Given the description of an element on the screen output the (x, y) to click on. 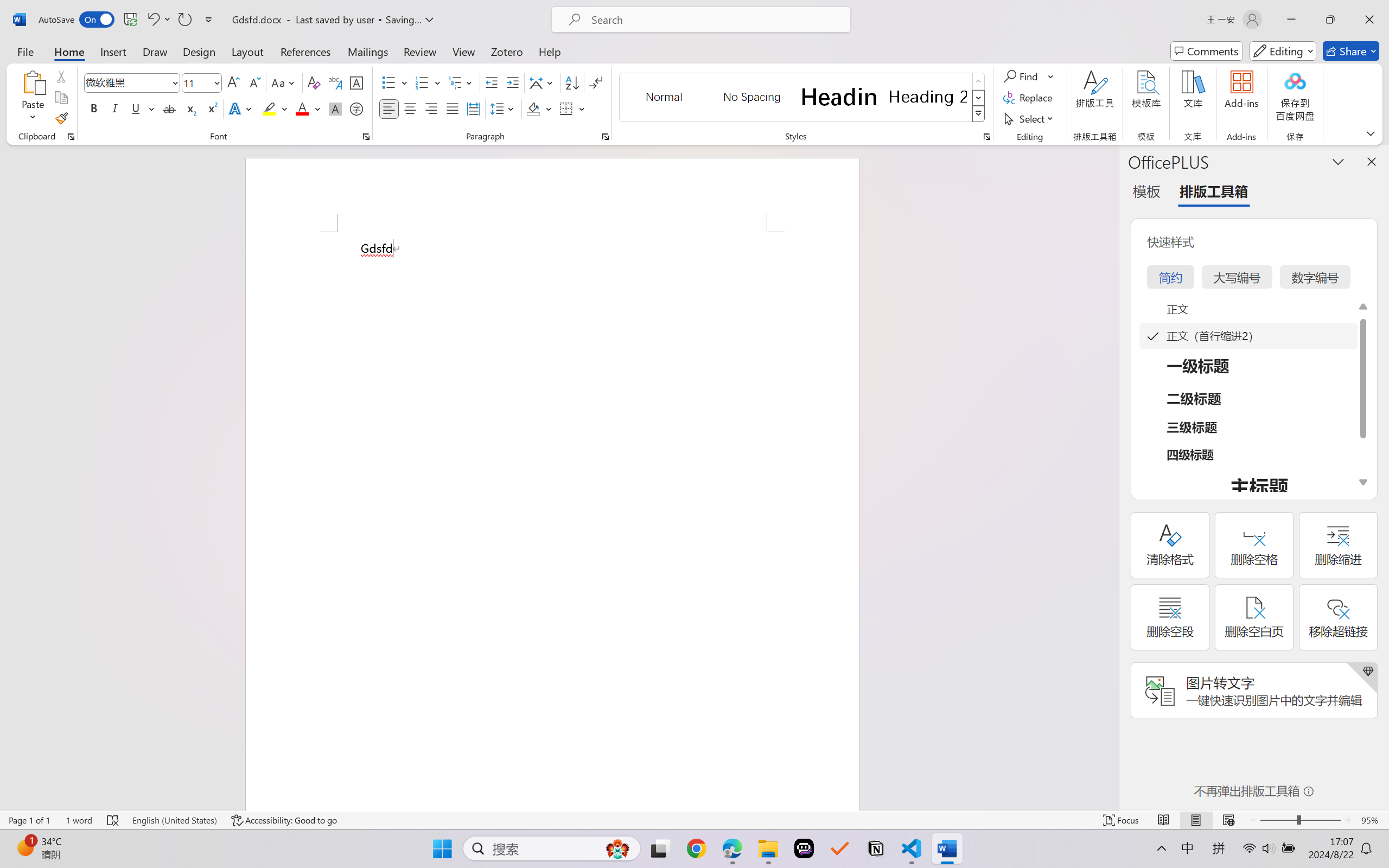
Class: MsoCommandBar (694, 819)
